Given the description of an element on the screen output the (x, y) to click on. 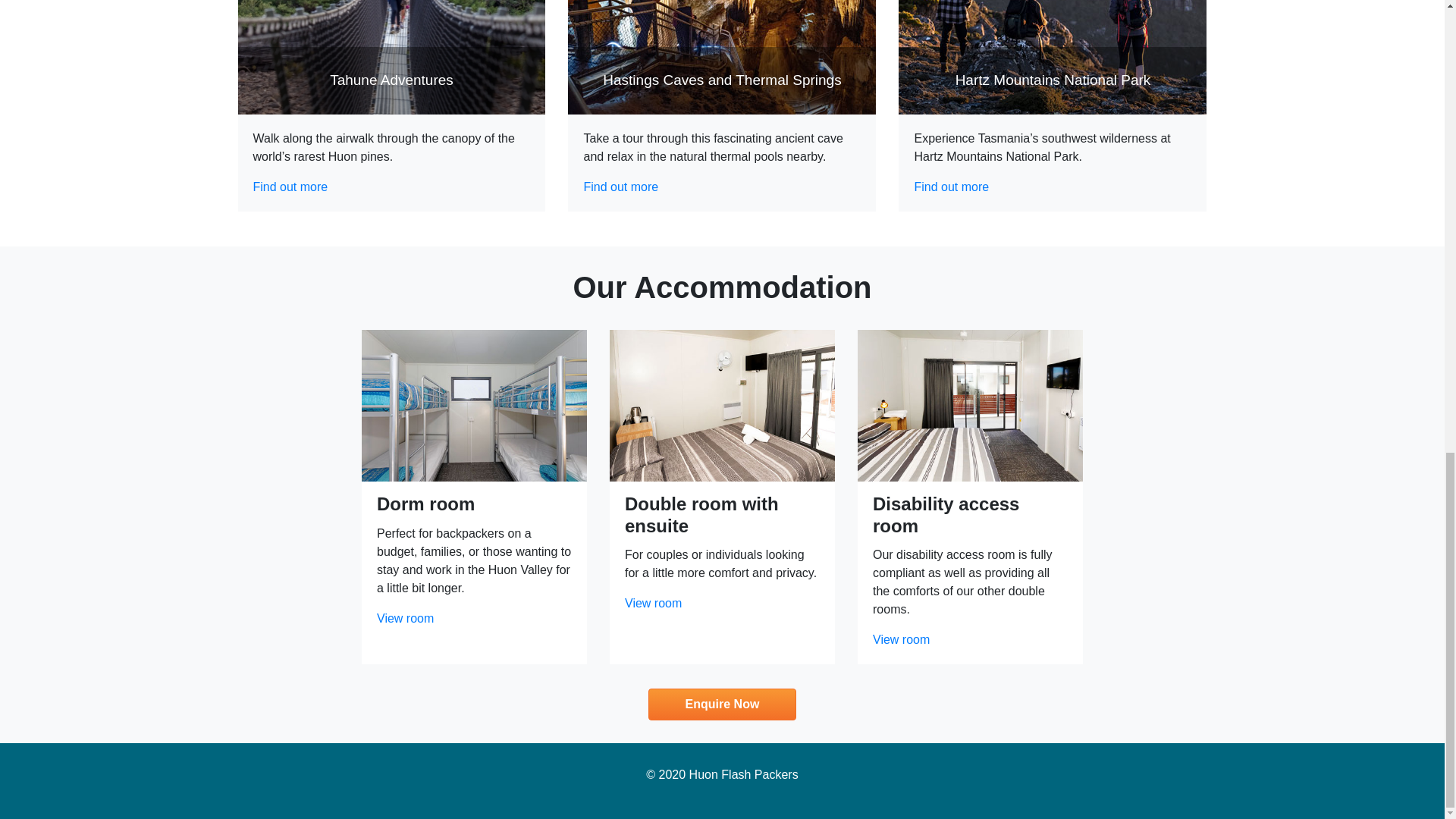
View room (901, 639)
Tahune Adventures (392, 57)
Find out more (620, 186)
Hastings Caves and Thermal Springs (721, 57)
Find out more (951, 186)
Enquire Now (721, 704)
View room (652, 603)
Find out more (291, 186)
View room (405, 617)
Hartz Mountains National Park (1052, 57)
